Given the description of an element on the screen output the (x, y) to click on. 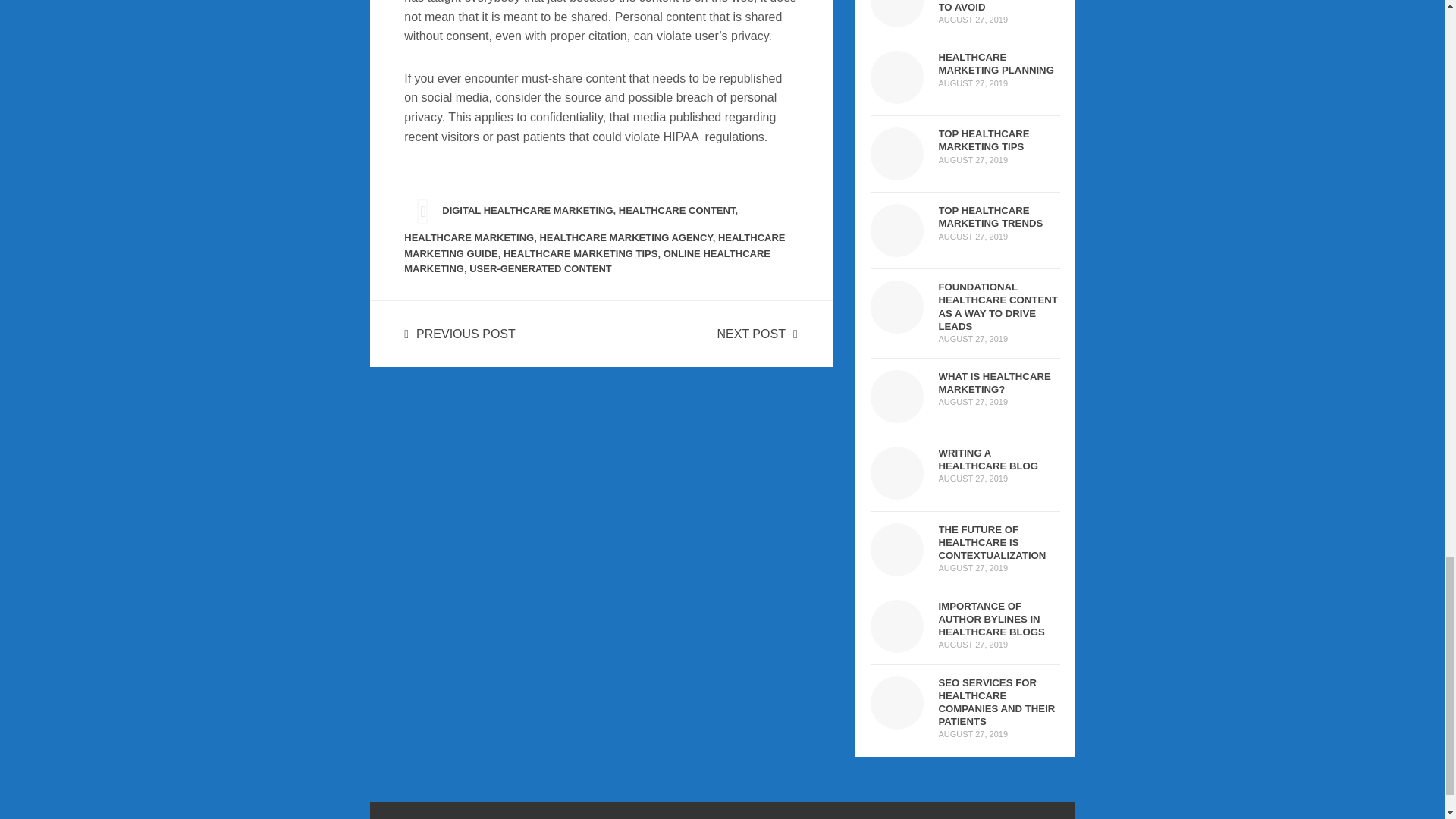
HEALTHCARE MARKETING (469, 237)
ONLINE HEALTHCARE MARKETING (587, 261)
HEALTHCARE CONTENT (676, 210)
HEALTHCARE MARKETING TIPS (580, 253)
HEALTHCARE MARKETING GUIDE (594, 245)
DIGITAL HEALTHCARE MARKETING (527, 210)
HEALTHCARE MARKETING AGENCY (624, 237)
USER-GENERATED CONTENT (539, 268)
NEXT POST (757, 333)
PREVIOUS POST (459, 333)
